Given the description of an element on the screen output the (x, y) to click on. 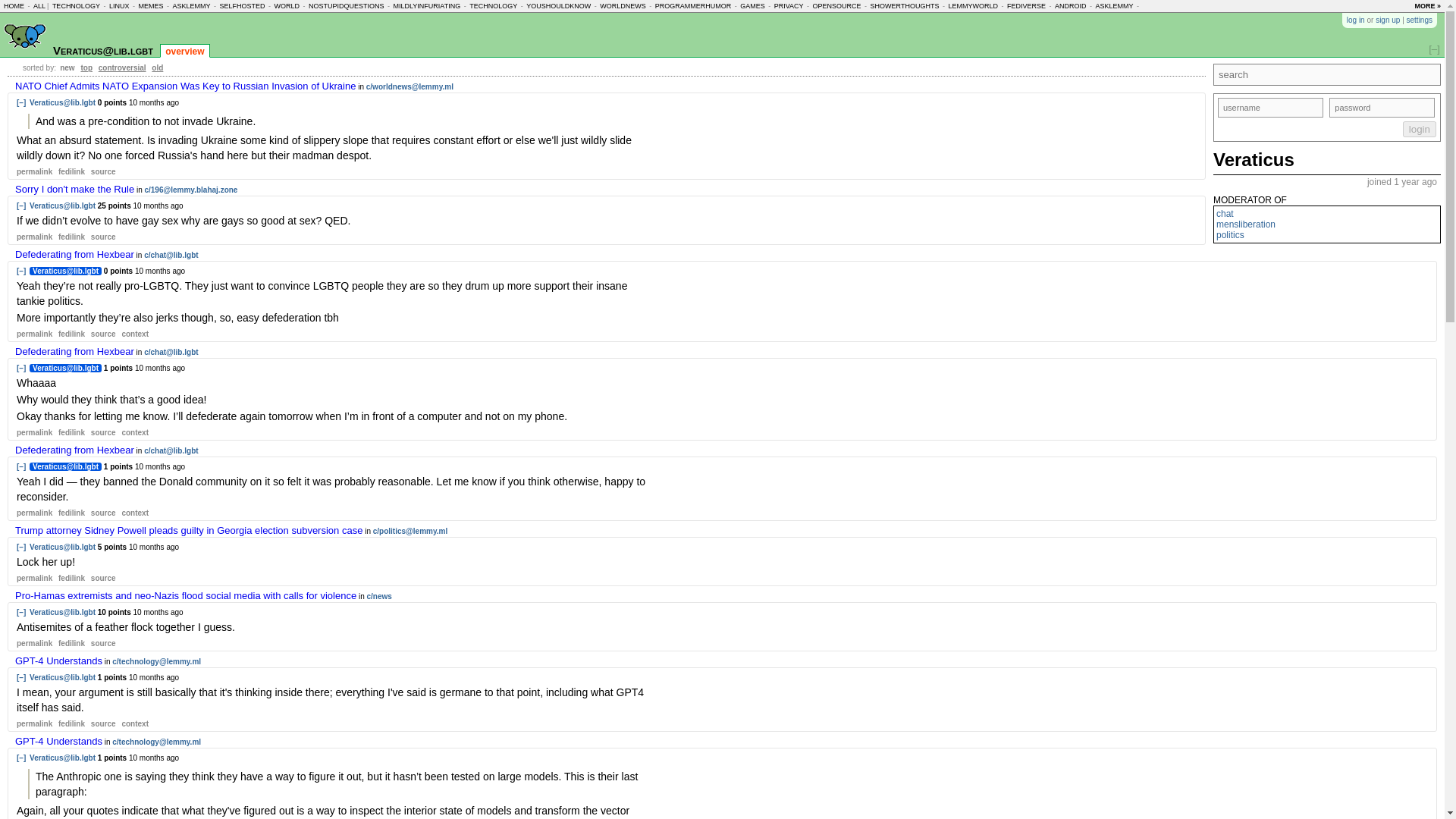
settings (1419, 19)
politics (1229, 235)
login (1419, 129)
SHOWERTHOUGHTS (904, 5)
login (1419, 129)
TECHNOLOGY (76, 5)
PRIVACY (788, 5)
SELFHOSTED (241, 5)
WORLDNEWS (622, 5)
ALL (39, 5)
